Given the description of an element on the screen output the (x, y) to click on. 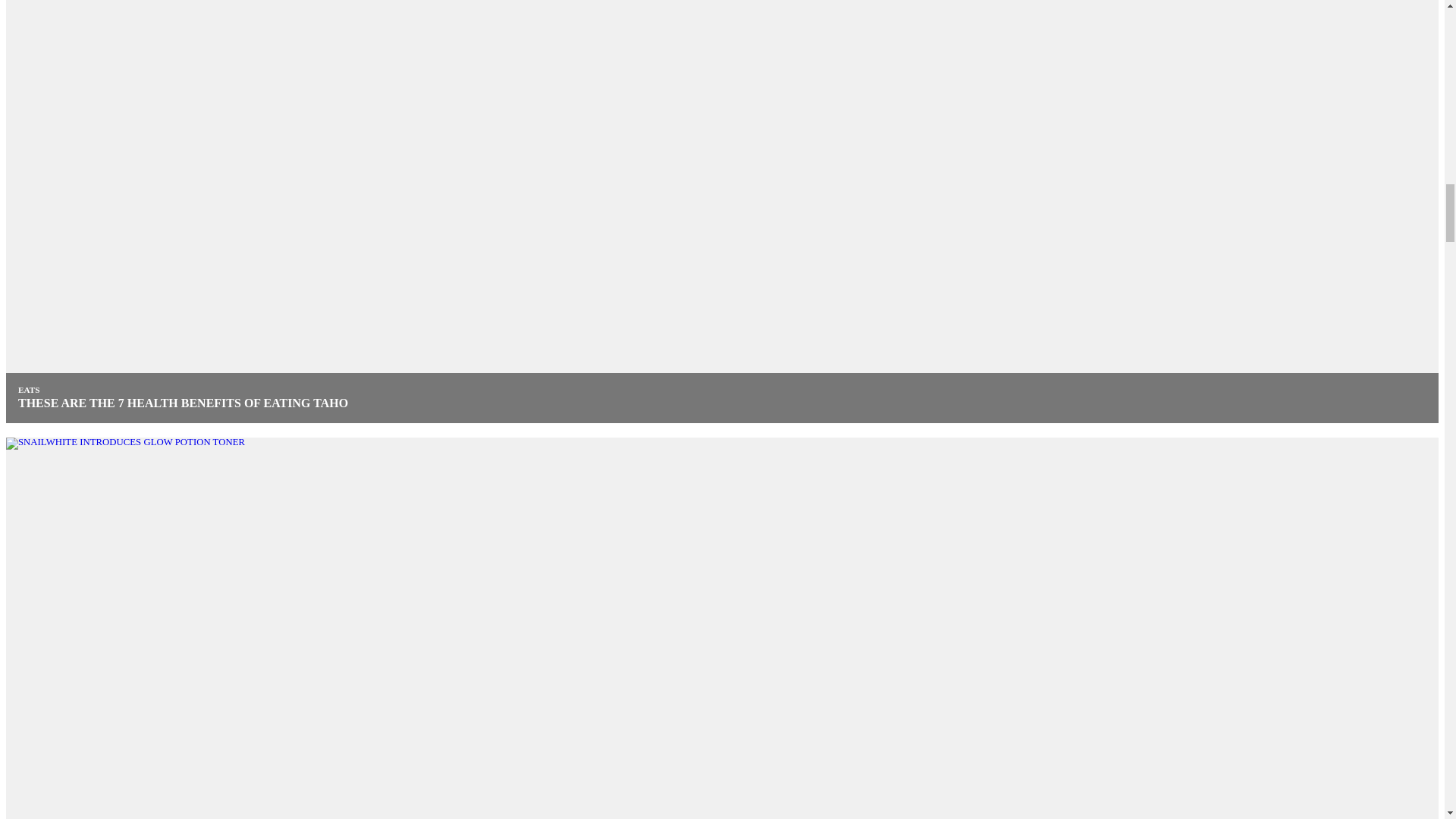
EATS (28, 388)
